Given the description of an element on the screen output the (x, y) to click on. 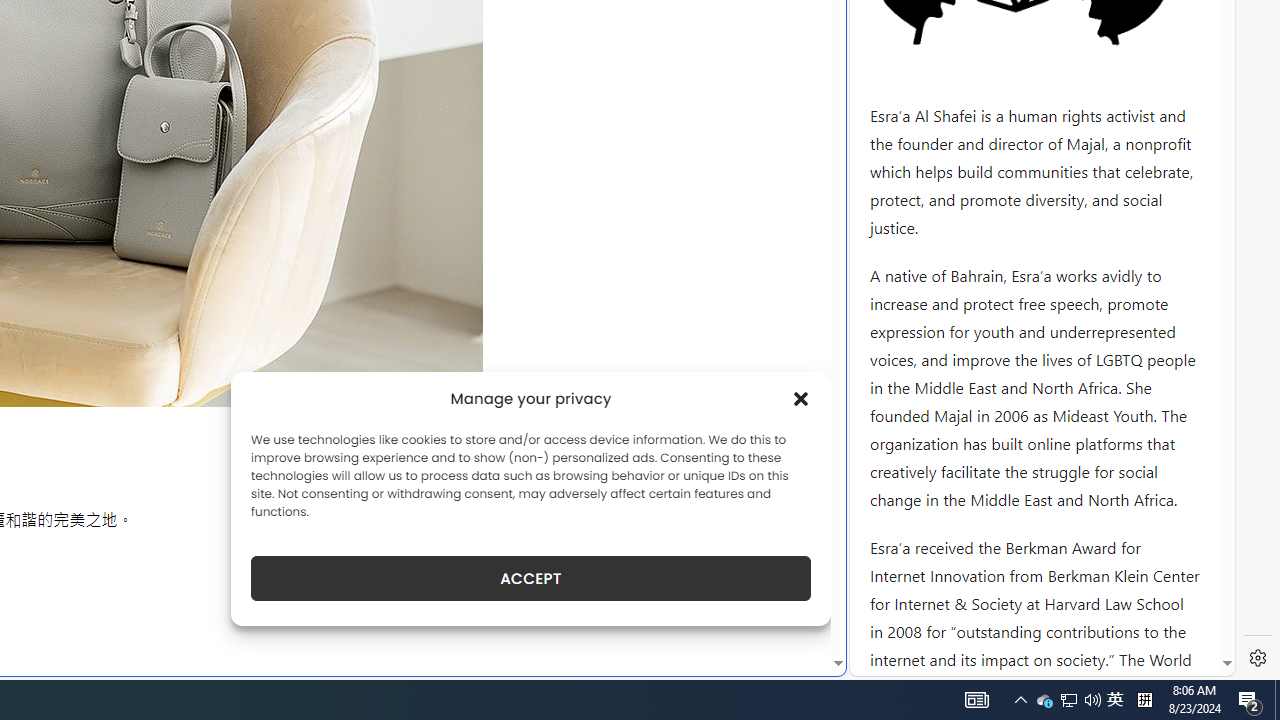
Class: cmplz-close (801, 398)
